Given the description of an element on the screen output the (x, y) to click on. 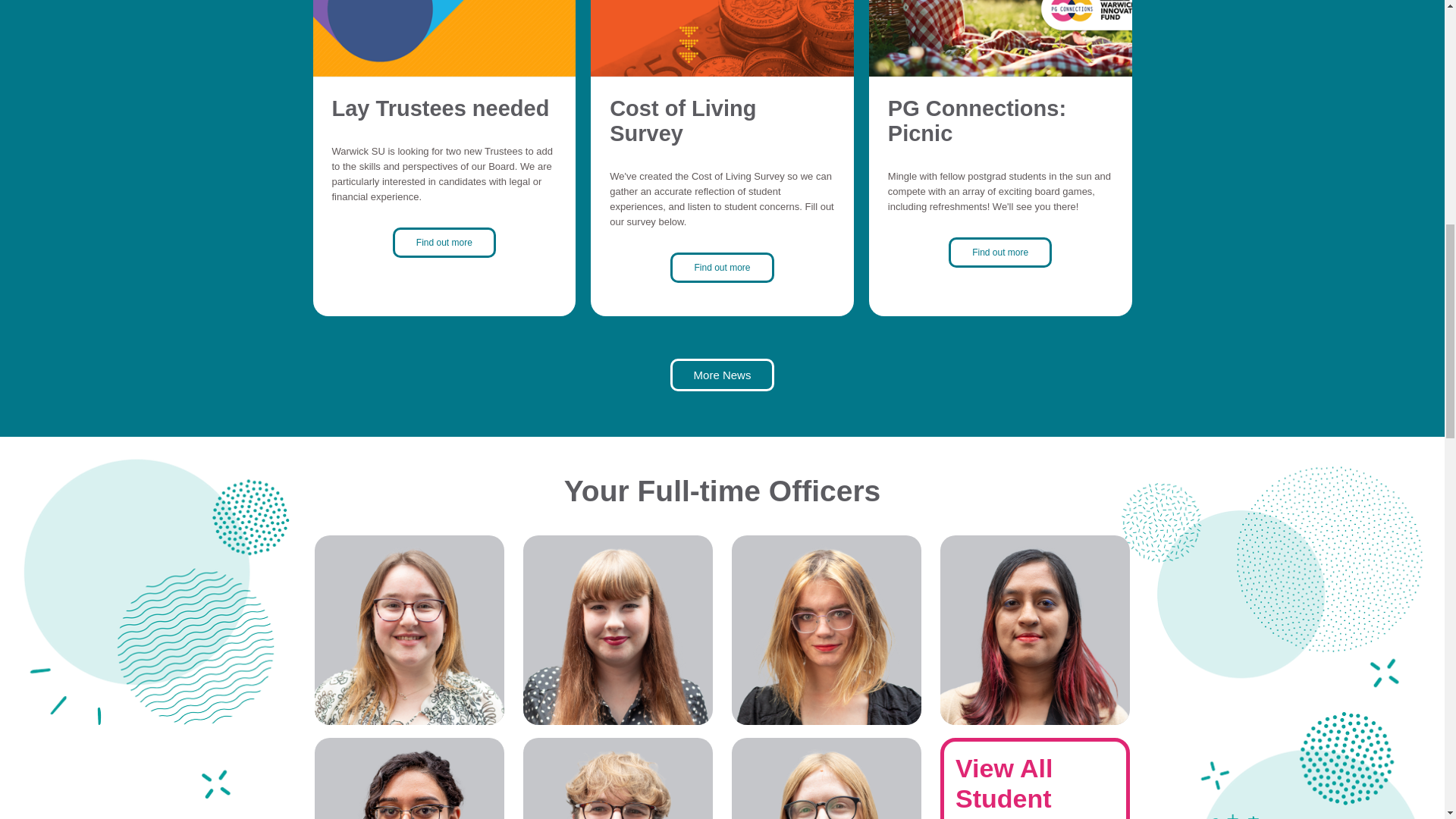
PG Connections: Picnic (1000, 40)
Lay Trustees needed (440, 108)
Cost of Living Survey (682, 120)
Cost of Living Survey (722, 40)
Lay Trustees needed (444, 40)
PG Connections: Picnic (976, 120)
